Given the description of an element on the screen output the (x, y) to click on. 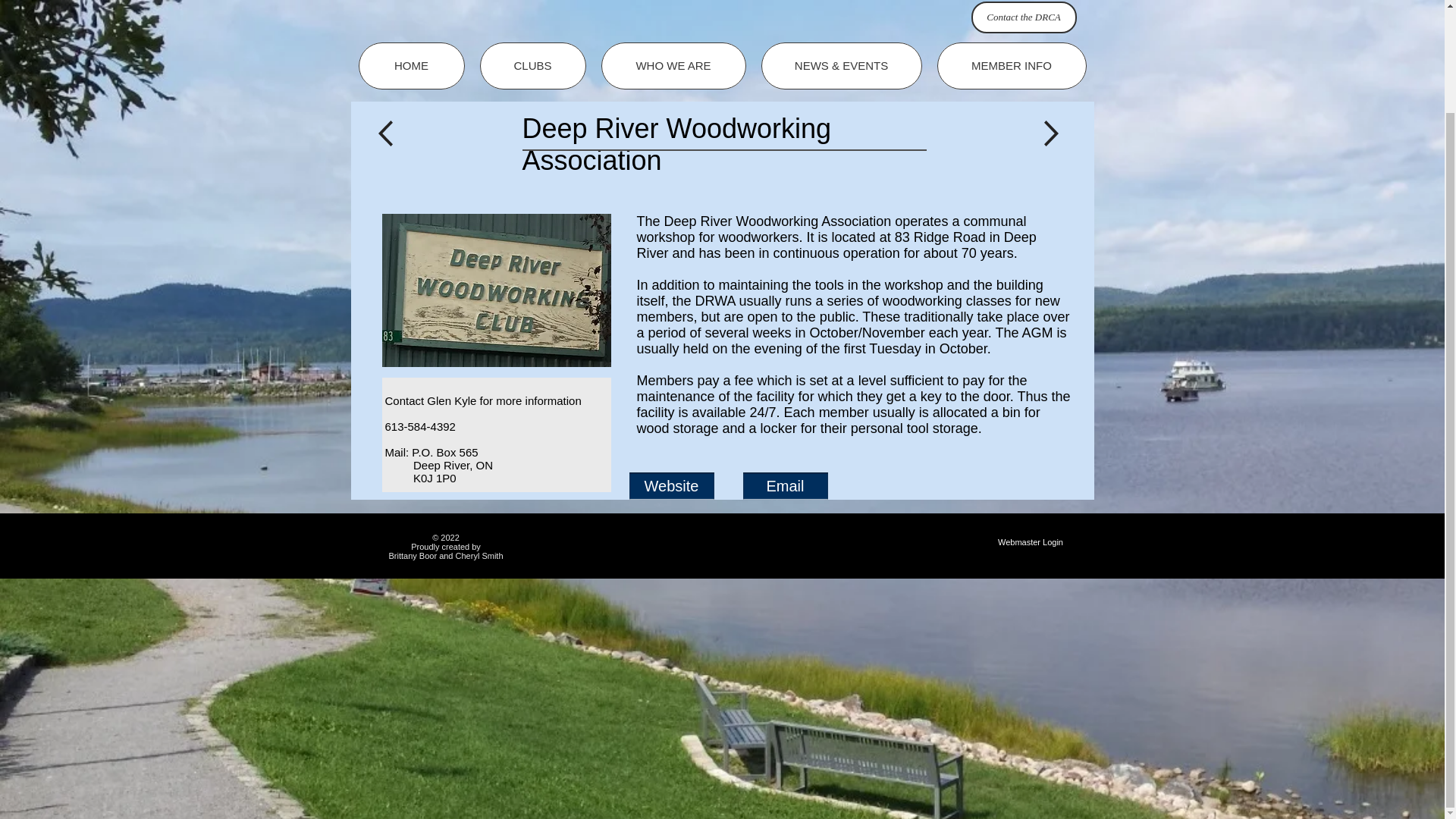
Webmaster Login (1029, 541)
Website (671, 485)
Contact the DRCA (1023, 17)
Email (785, 485)
HOME (411, 65)
